Given the description of an element on the screen output the (x, y) to click on. 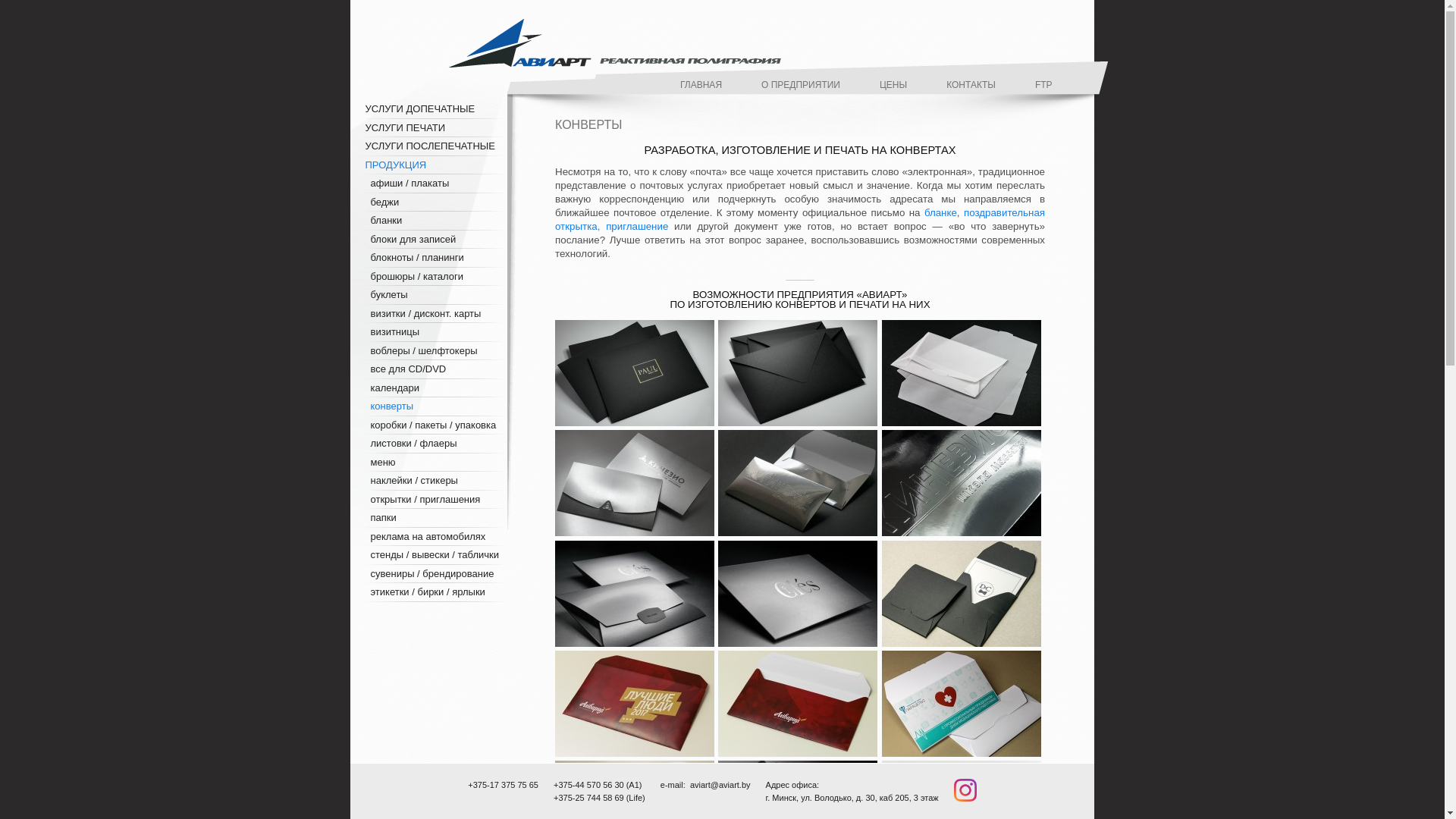
Konvert - Paul - 13_03 Element type: hover (797, 373)
Konvert - Paul - 13_03 Element type: hover (799, 426)
aviart Element type: hover (614, 42)
FTP Element type: text (1043, 82)
